Given the description of an element on the screen output the (x, y) to click on. 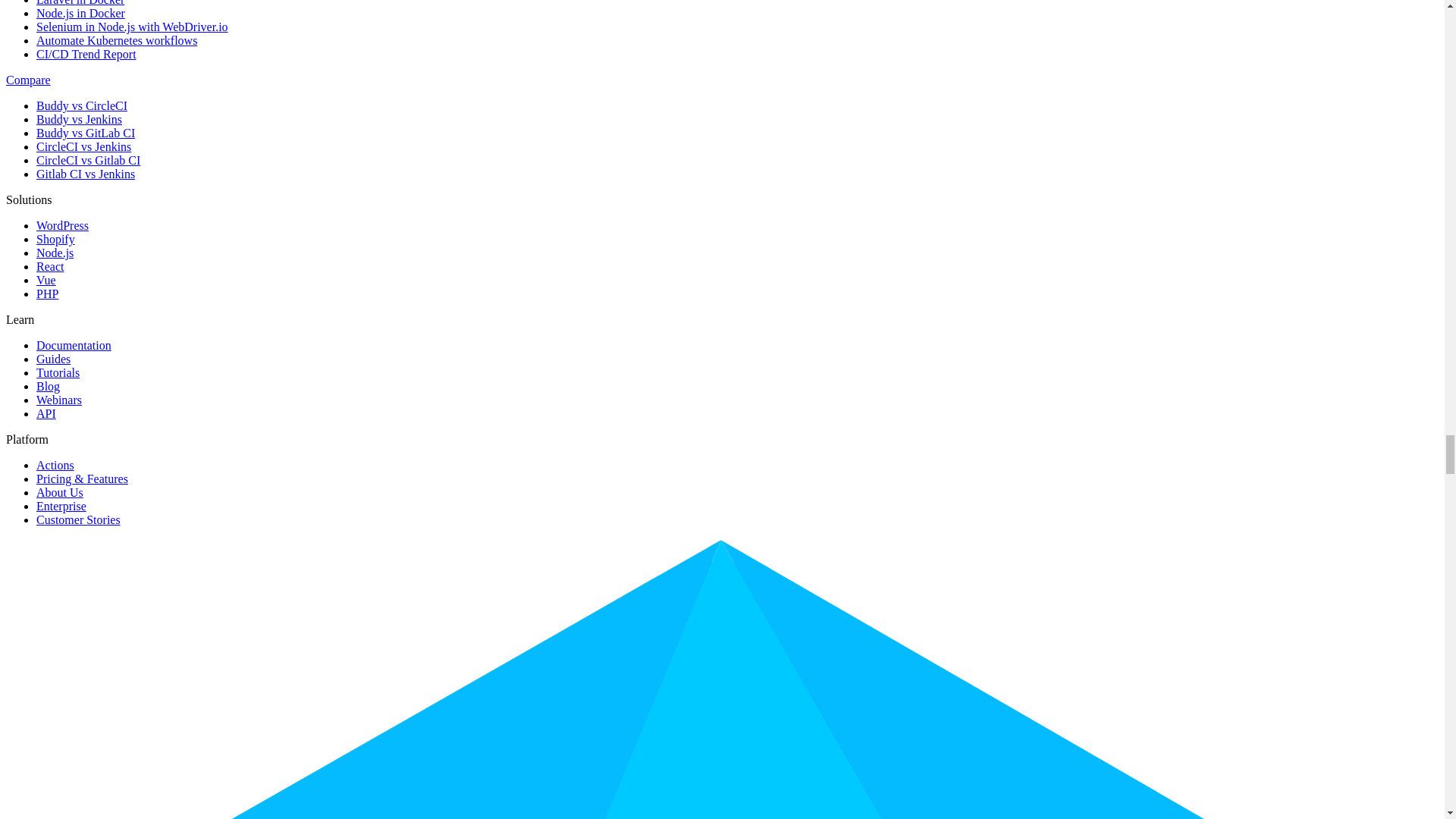
Compare (27, 79)
Laravel in Docker (79, 2)
Blog (47, 386)
WordPress (62, 225)
Buddy vs CircleCI (82, 105)
CircleCI vs Gitlab CI (87, 160)
CircleCI vs Jenkins (83, 146)
Node.js in Docker (80, 12)
Selenium in Node.js with WebDriver.io (132, 26)
PHP (47, 293)
Gitlab CI vs Jenkins (85, 173)
Vue (46, 279)
Buddy vs Jenkins (79, 119)
Shopify (55, 238)
Automate Kubernetes workflows (116, 40)
